Given the description of an element on the screen output the (x, y) to click on. 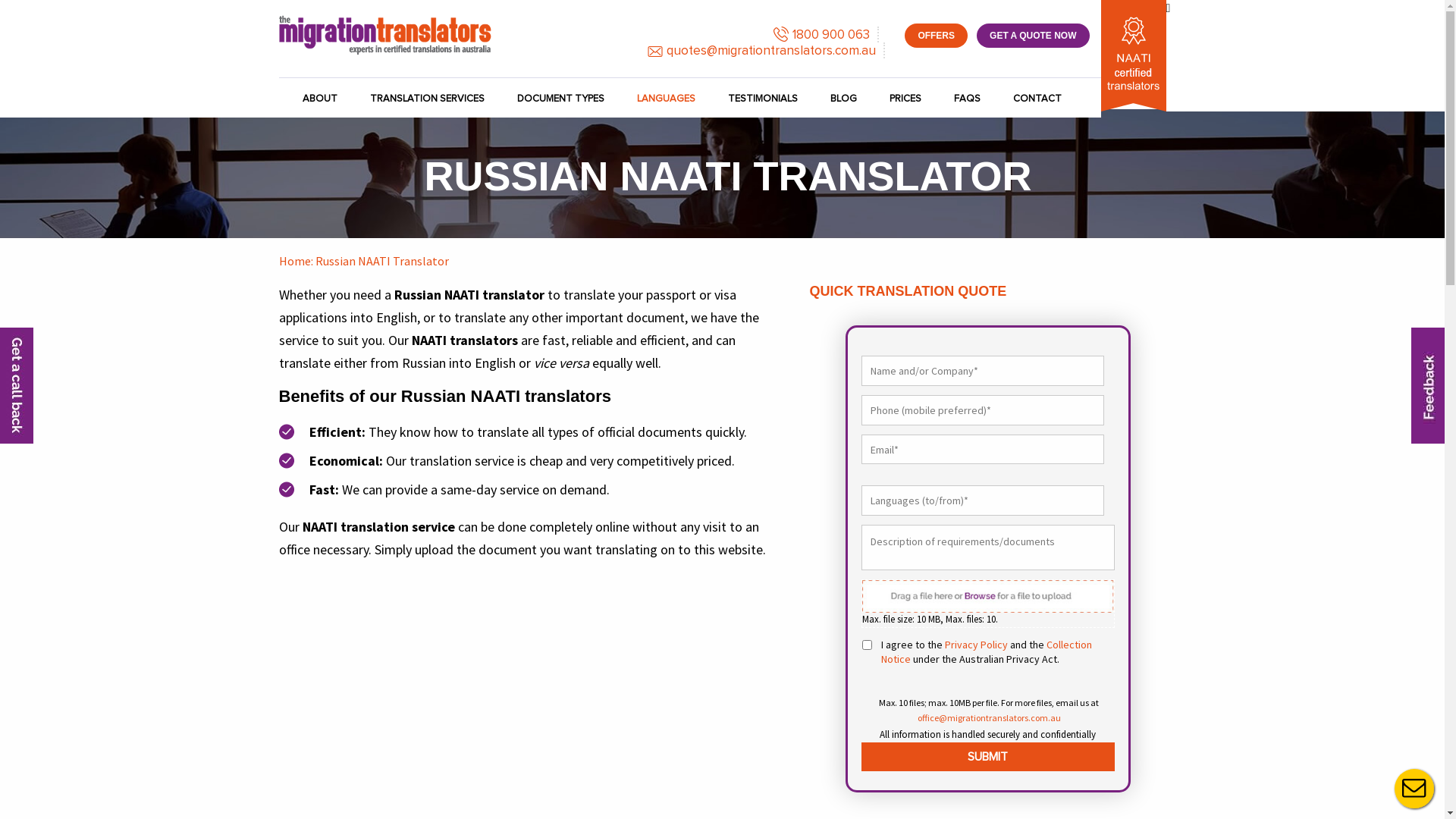
Privacy Policy Element type: text (975, 644)
Home Element type: text (294, 260)
CONTACT Element type: text (1036, 98)
LANGUAGES Element type: text (665, 98)
TRANSLATION SERVICES Element type: text (426, 98)
OFFERS Element type: text (935, 35)
Collection Notice Element type: text (986, 651)
FAQS Element type: text (966, 98)
PRICES Element type: text (905, 98)
TESTIMONIALS Element type: text (762, 98)
office@migrationtranslators.com.au Element type: text (988, 717)
1800 900 063 Element type: text (825, 34)
GET A QUOTE NOW Element type: text (1032, 35)
ABOUT Element type: text (327, 98)
Live Chat Button Element type: hover (1414, 788)
Submit Element type: text (987, 756)
BLOG Element type: text (843, 98)
DOCUMENT TYPES Element type: text (560, 98)
The Migration Translators Element type: hover (385, 34)
quotes@migrationtranslators.com.au Element type: text (765, 50)
